Given the description of an element on the screen output the (x, y) to click on. 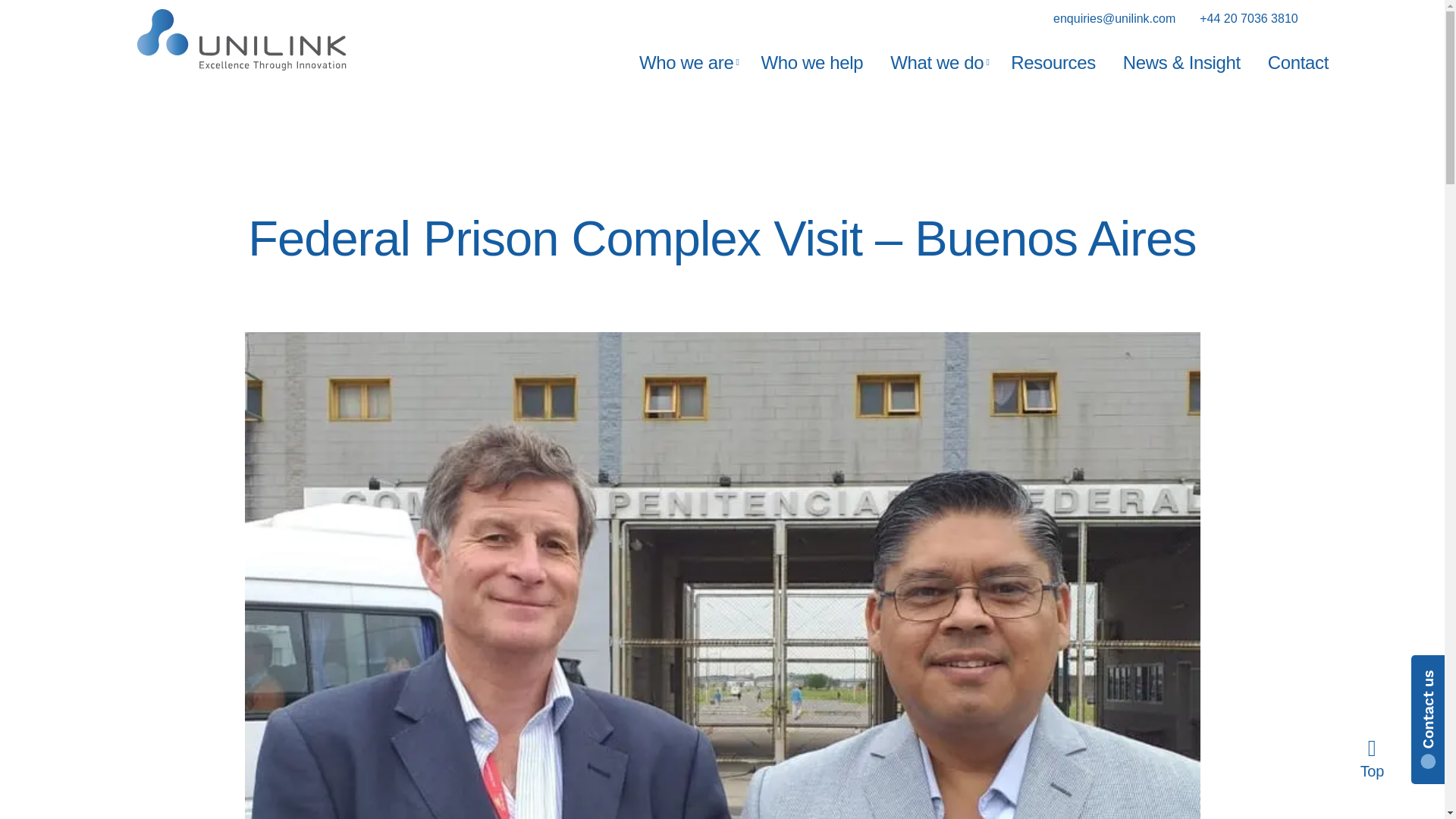
Resources (1052, 62)
Who we are (686, 62)
What we do (936, 62)
Contact (1298, 62)
Who we help (811, 62)
What we do (936, 62)
Email us (1248, 18)
Email us (1113, 18)
Who we are (686, 62)
Resources (1052, 62)
Contact (1298, 62)
Who we help (811, 62)
Unilink (241, 39)
